Given the description of an element on the screen output the (x, y) to click on. 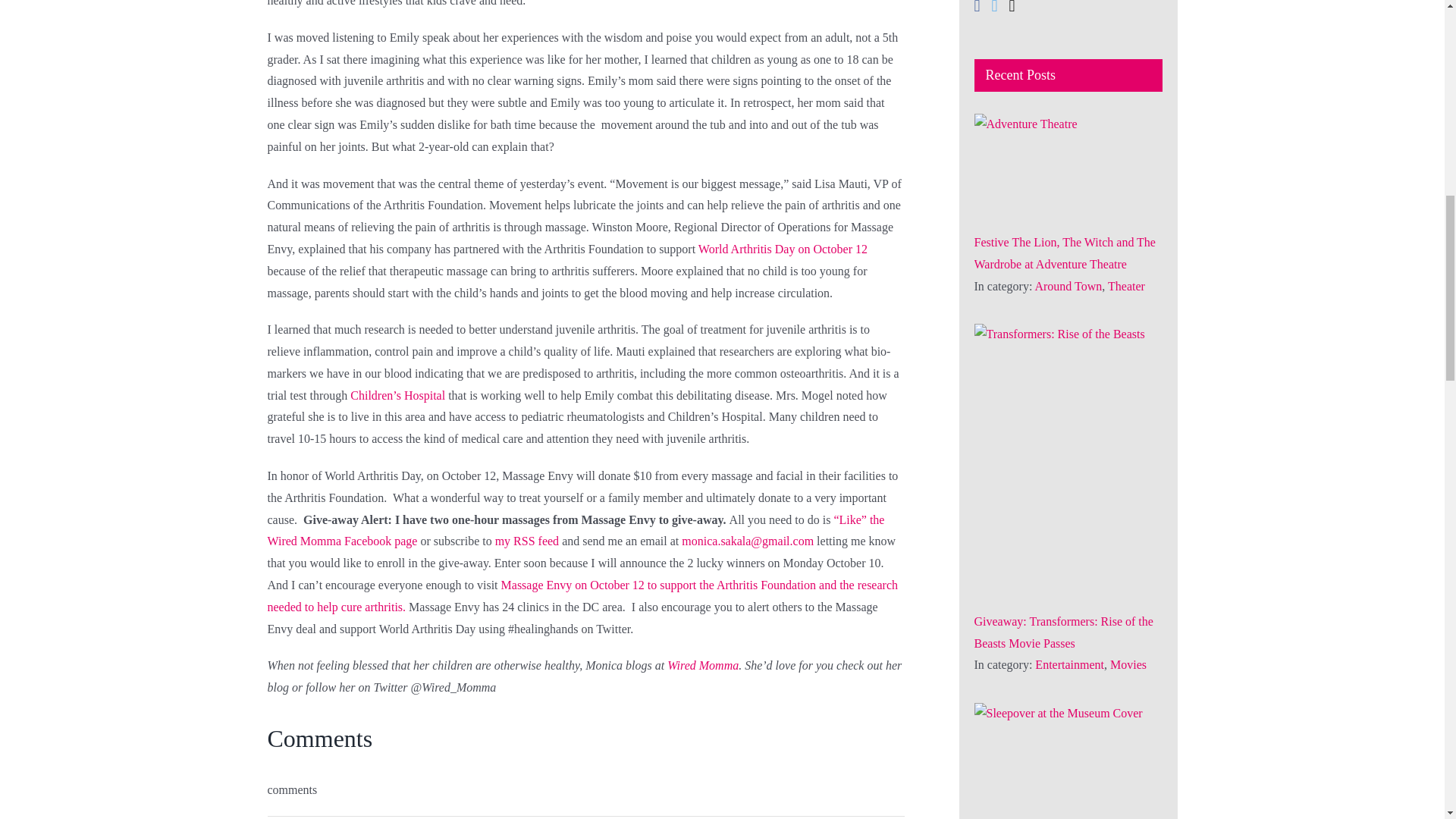
my RSS feed (528, 540)
Wired Momma (702, 665)
World Arthritis Day on October 12 (782, 248)
